Given the description of an element on the screen output the (x, y) to click on. 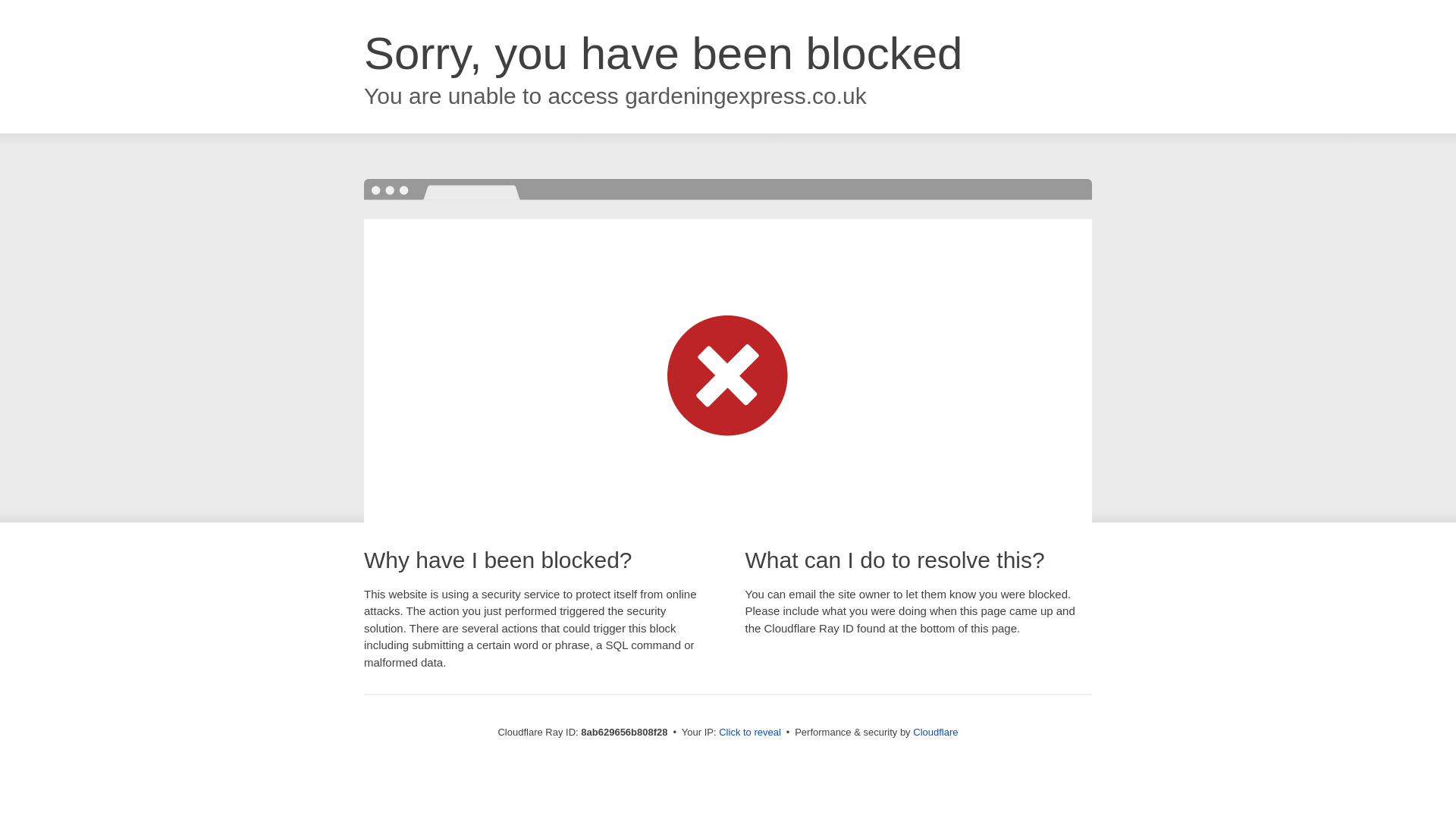
Click to reveal (749, 732)
Cloudflare (935, 731)
